Given the description of an element on the screen output the (x, y) to click on. 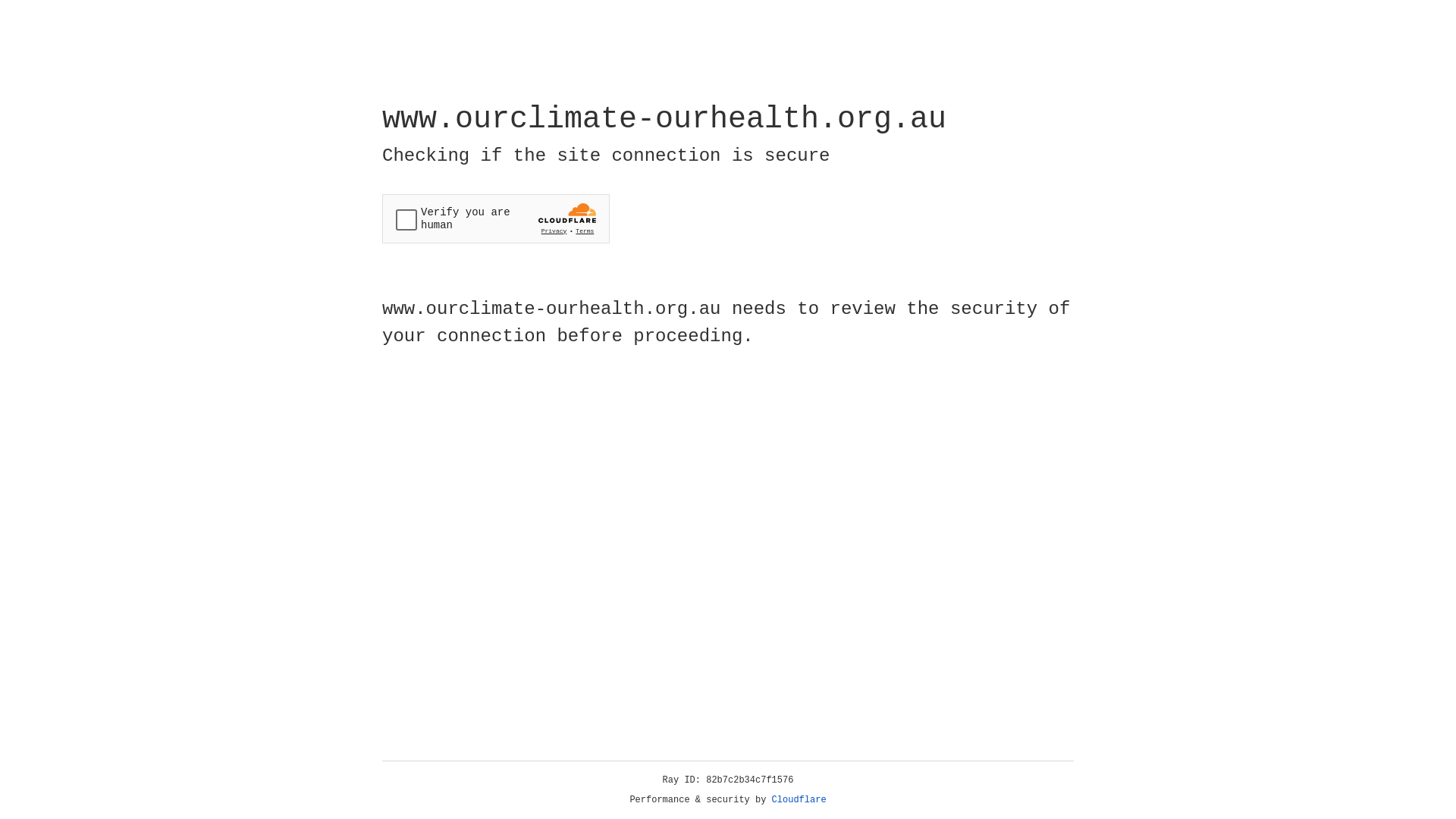
Cloudflare Element type: text (798, 799)
Widget containing a Cloudflare security challenge Element type: hover (495, 218)
